Given the description of an element on the screen output the (x, y) to click on. 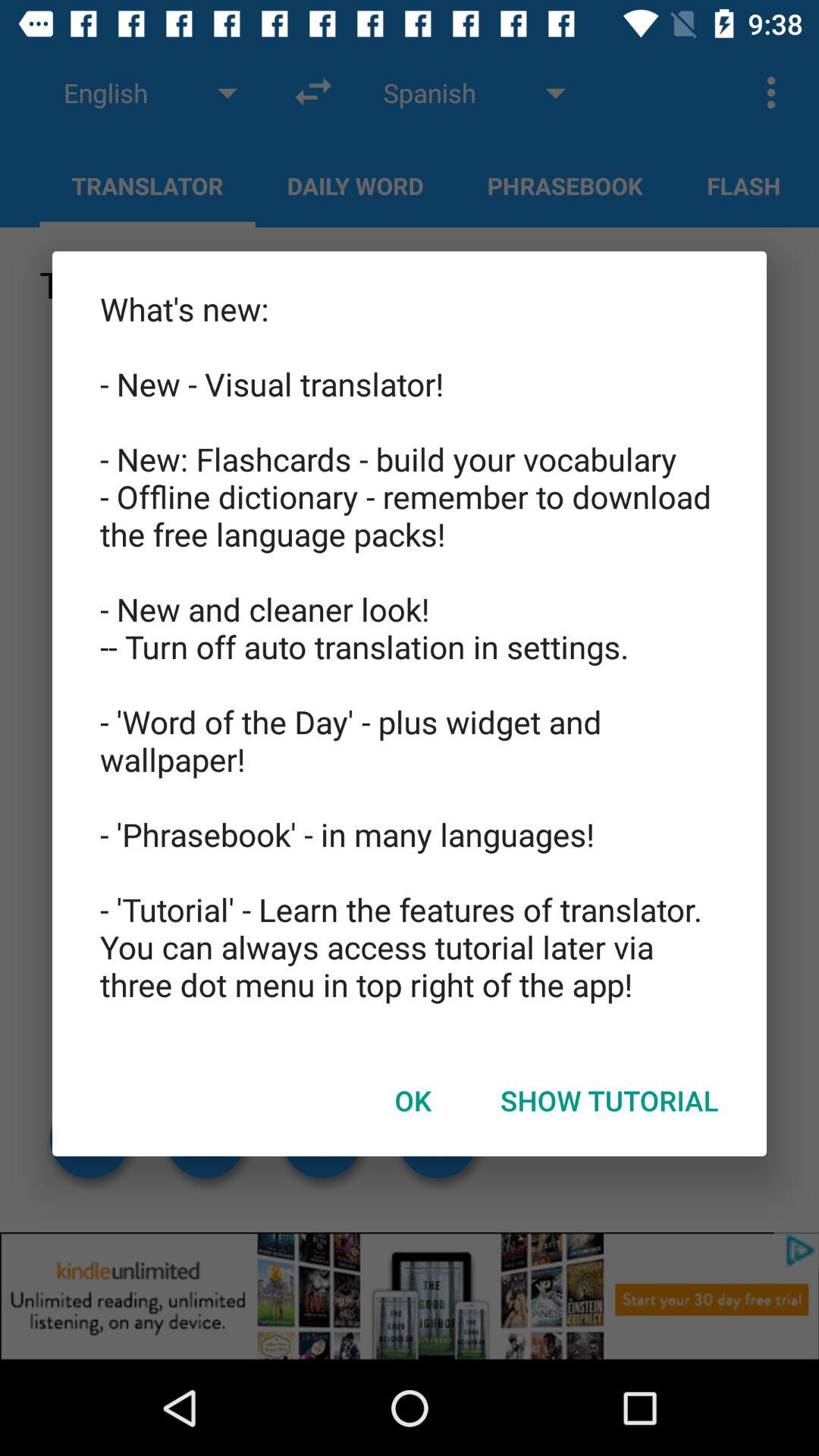
turn off the ok item (412, 1100)
